Given the description of an element on the screen output the (x, y) to click on. 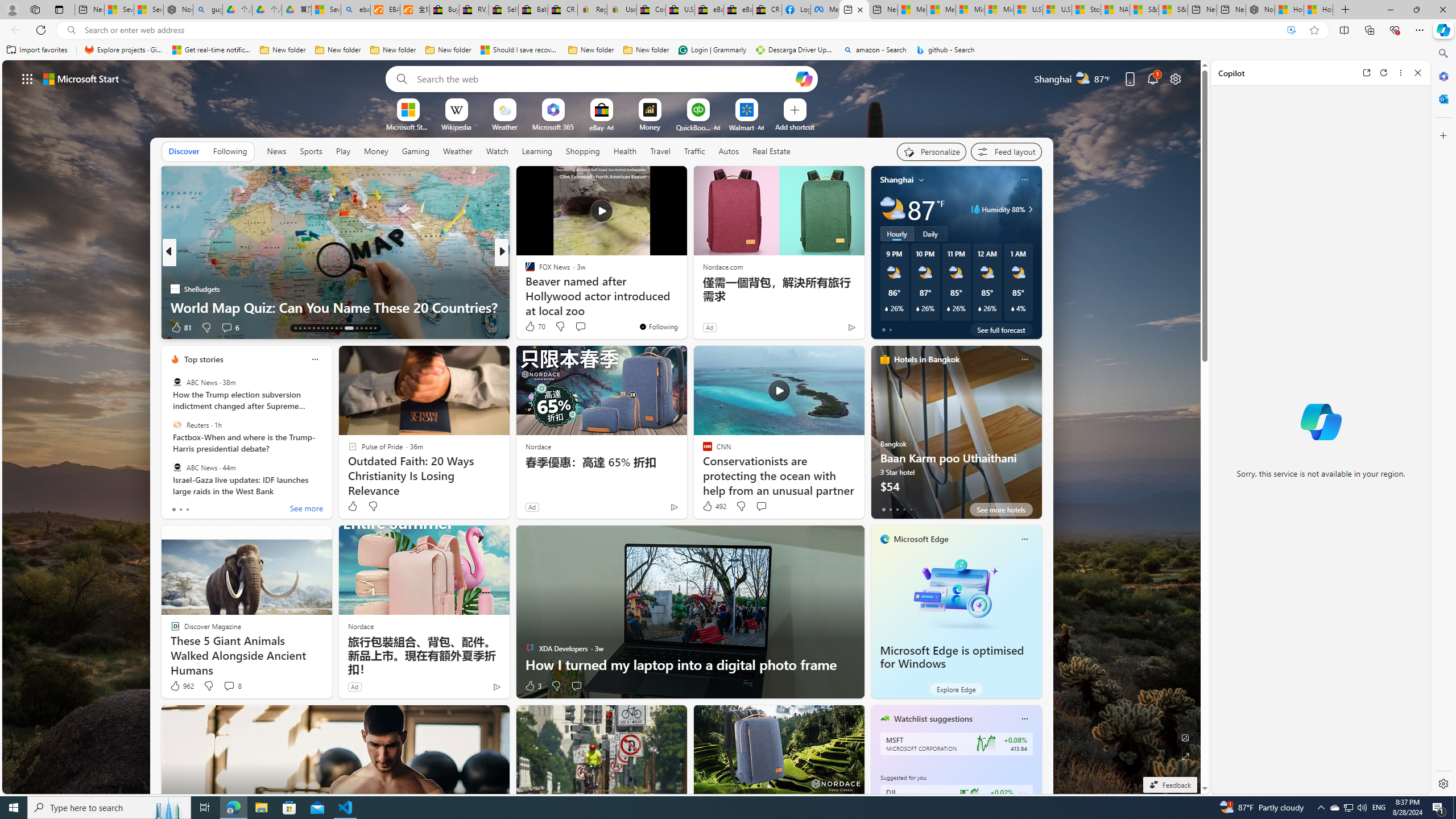
Split screen (1344, 29)
Like (352, 505)
Travel (660, 151)
Explore Edge (955, 689)
AutomationID: tab-22 (336, 328)
Expand background (1185, 756)
See more hotels (1000, 509)
Enhance video (1291, 29)
Microsoft Start Sports (407, 126)
tab-0 (882, 509)
Hotels in Bangkok (926, 359)
tab-4 (910, 509)
